Given the description of an element on the screen output the (x, y) to click on. 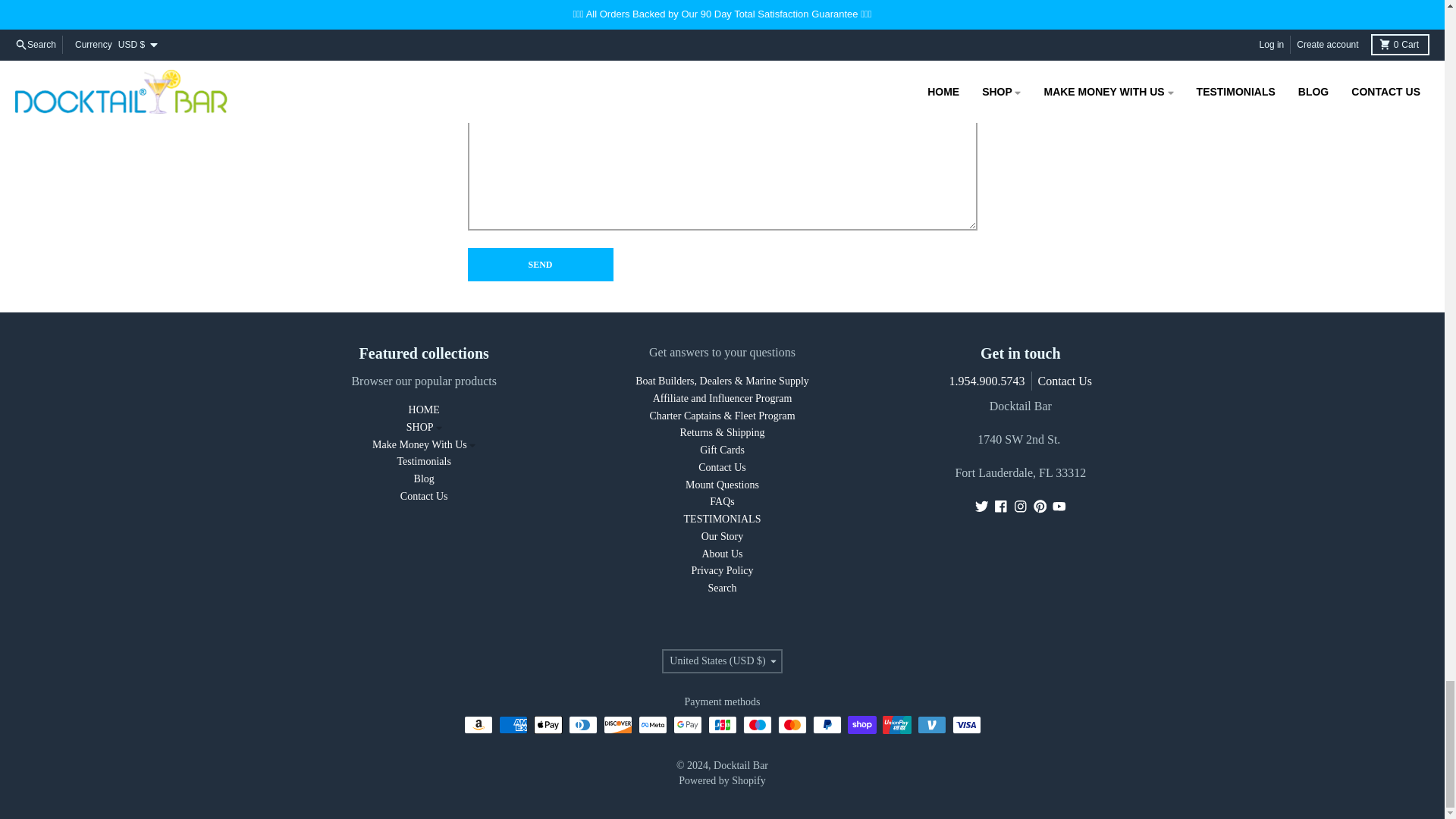
Twitter - Docktail Bar (981, 506)
YouTube - Docktail Bar (1058, 506)
Facebook - Docktail Bar (1000, 506)
Pinterest - Docktail Bar (1039, 506)
Instagram - Docktail Bar (1020, 506)
